Given the description of an element on the screen output the (x, y) to click on. 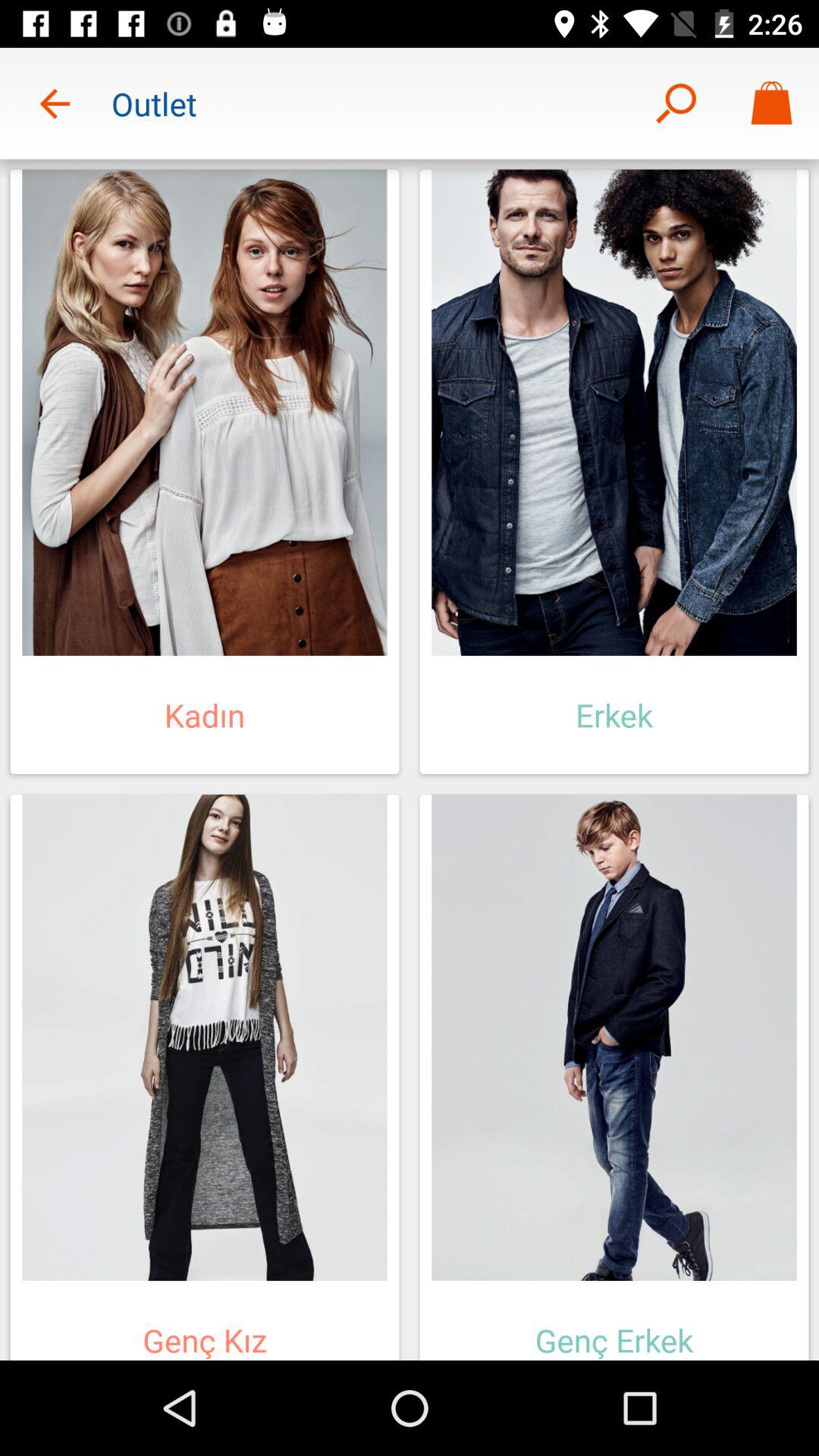
open icon to the right of outlet item (675, 103)
